Given the description of an element on the screen output the (x, y) to click on. 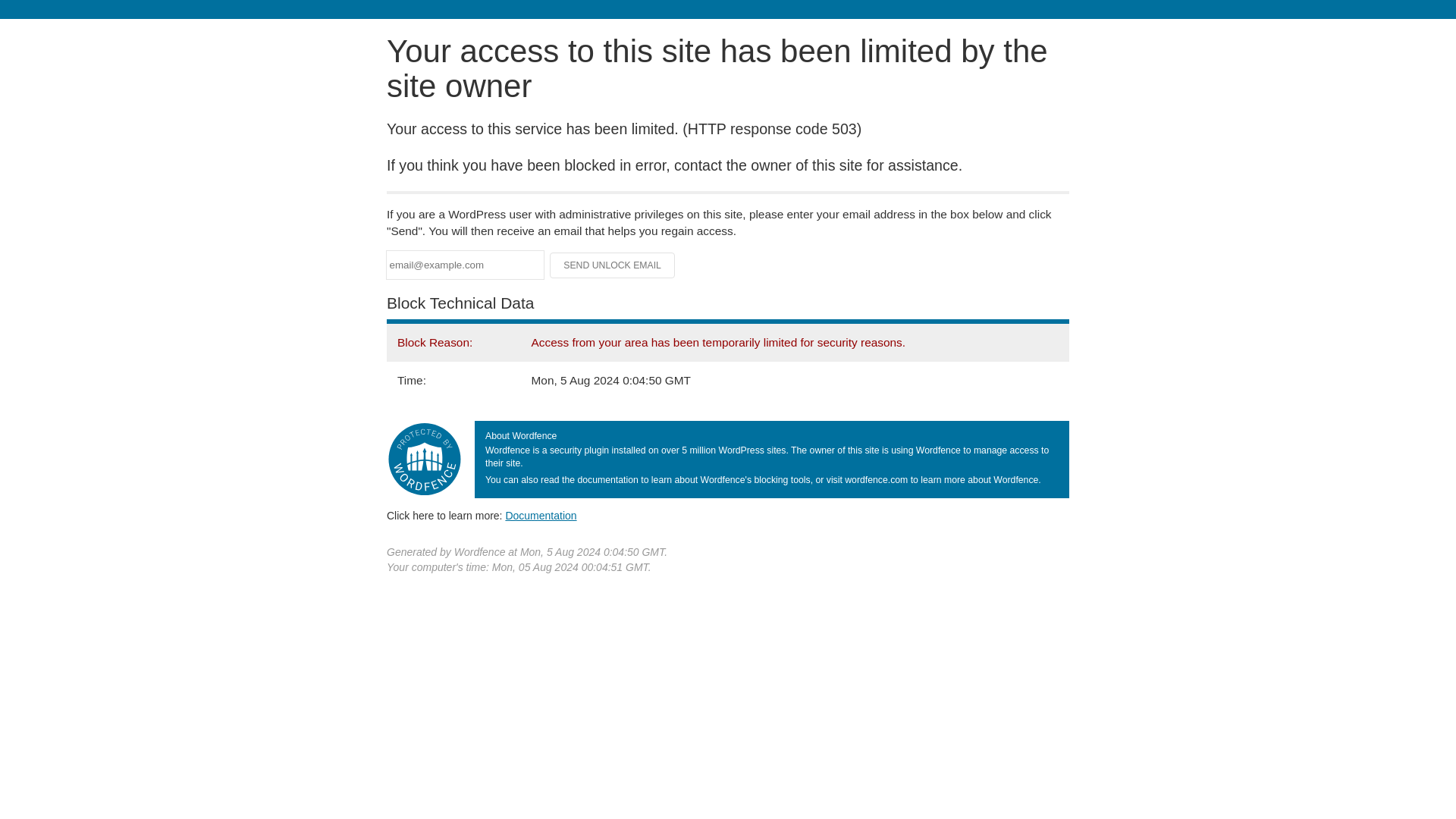
Send Unlock Email (612, 265)
Documentation (540, 515)
Send Unlock Email (612, 265)
